Given the description of an element on the screen output the (x, y) to click on. 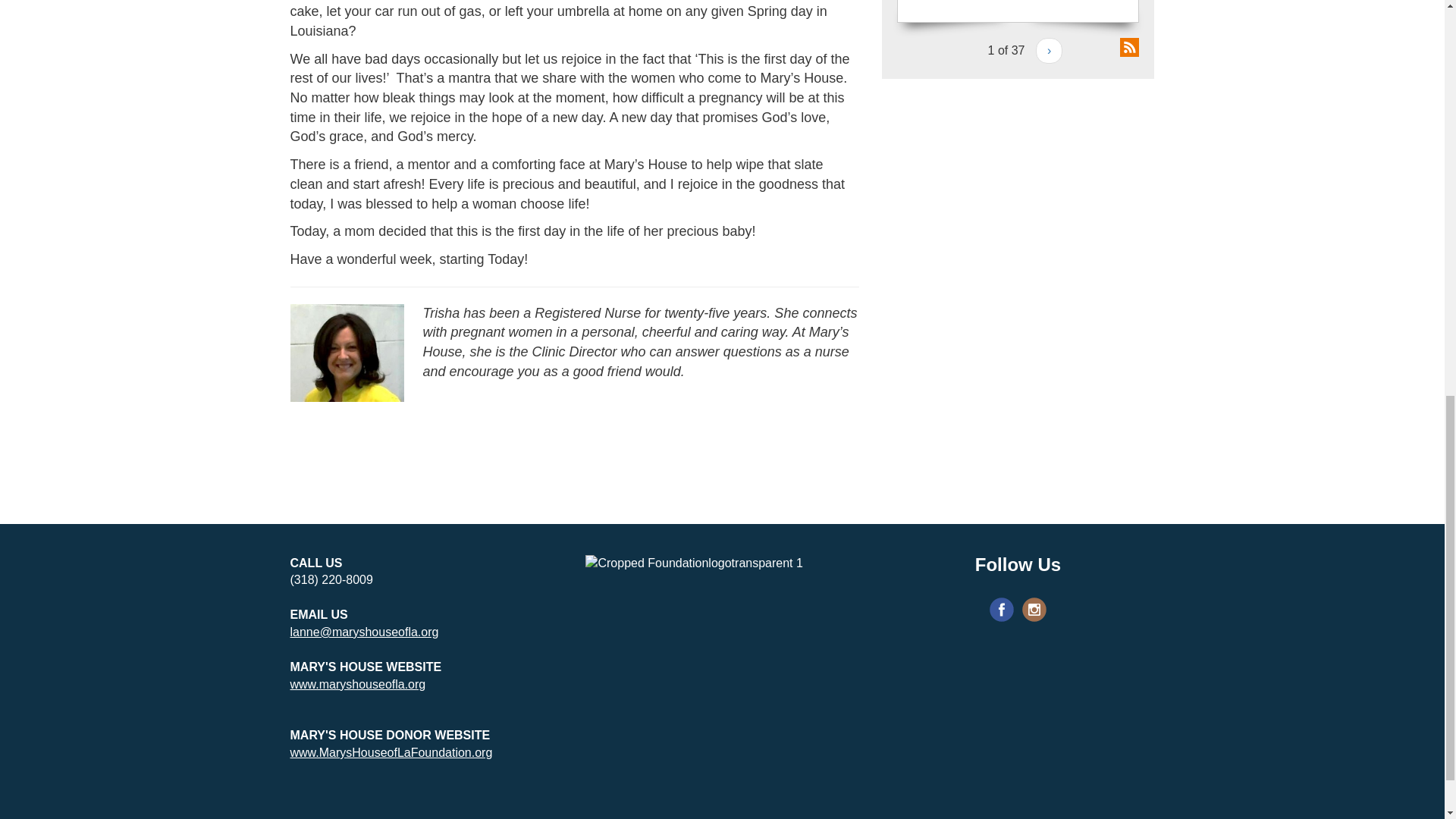
Read more (968, 1)
Subscribe to Blog (1128, 45)
www.maryshouseofla.org (357, 684)
Subscribe (980, 308)
Instagram (1034, 609)
Facebook (1001, 609)
www.MarysHouseofLaFoundation.org (390, 752)
